Given the description of an element on the screen output the (x, y) to click on. 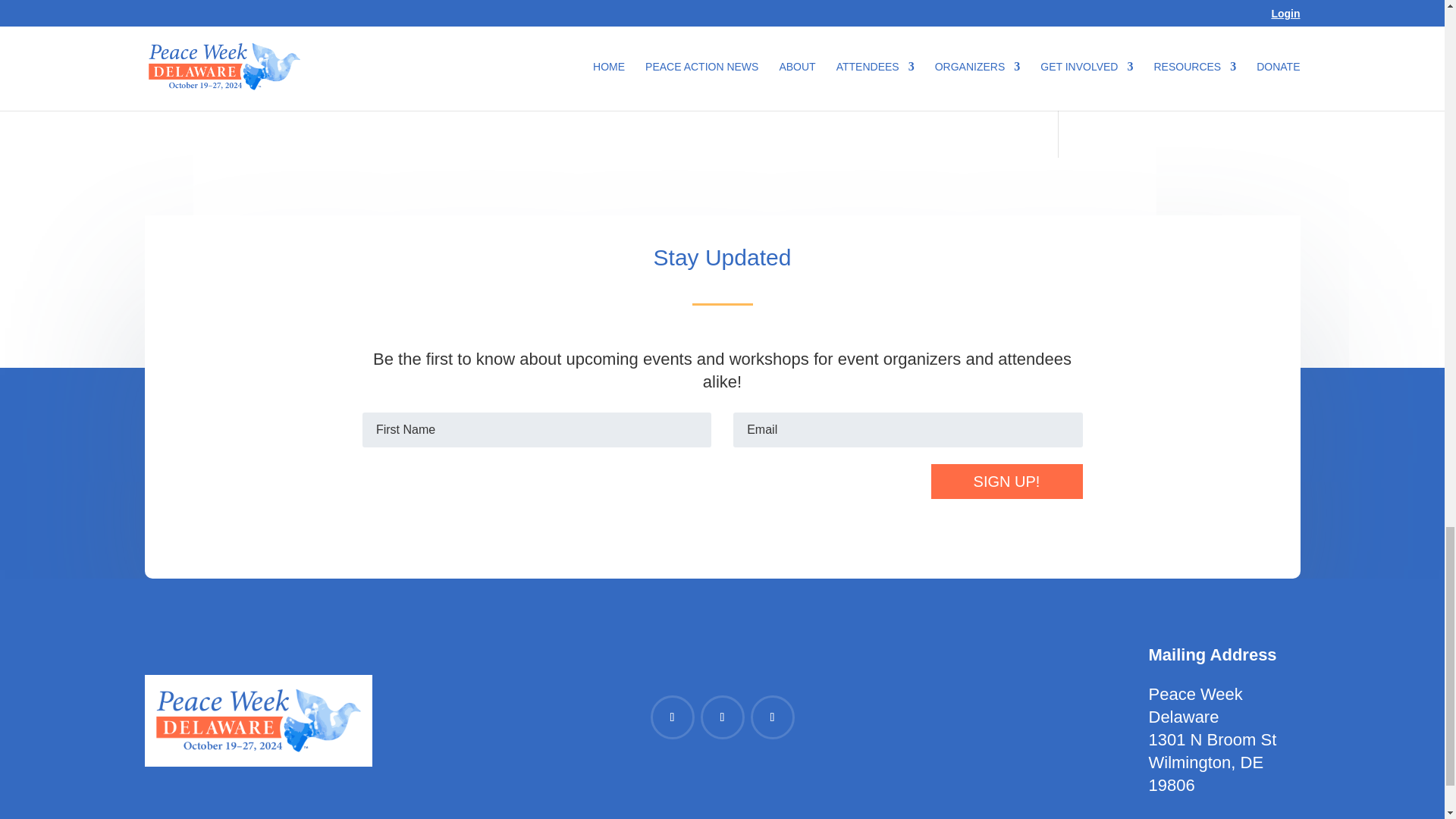
Submit Comment (909, 12)
Submit Comment (909, 12)
Peace Week Delaware 2021 Logo (258, 720)
Follow on Instagram (722, 717)
Follow on X (772, 717)
Follow on Facebook (672, 717)
